Given the description of an element on the screen output the (x, y) to click on. 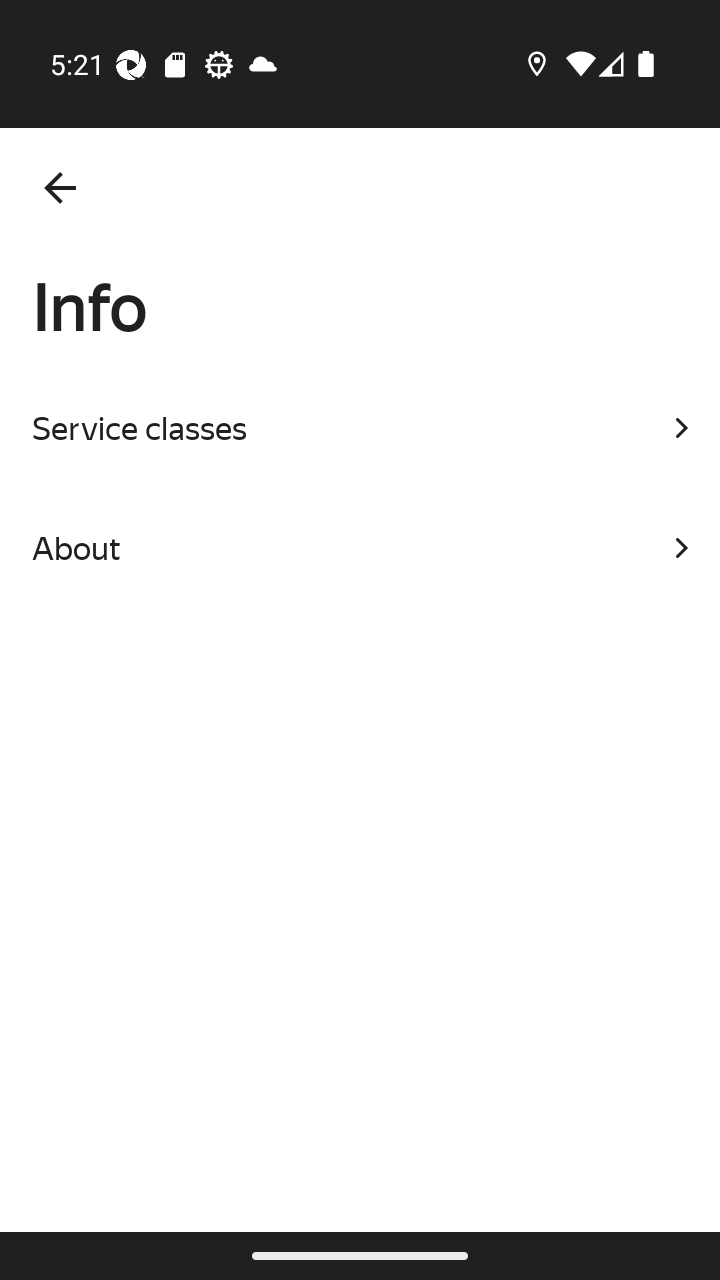
Back (60, 188)
Service classes (360, 427)
About (360, 547)
